Given the description of an element on the screen output the (x, y) to click on. 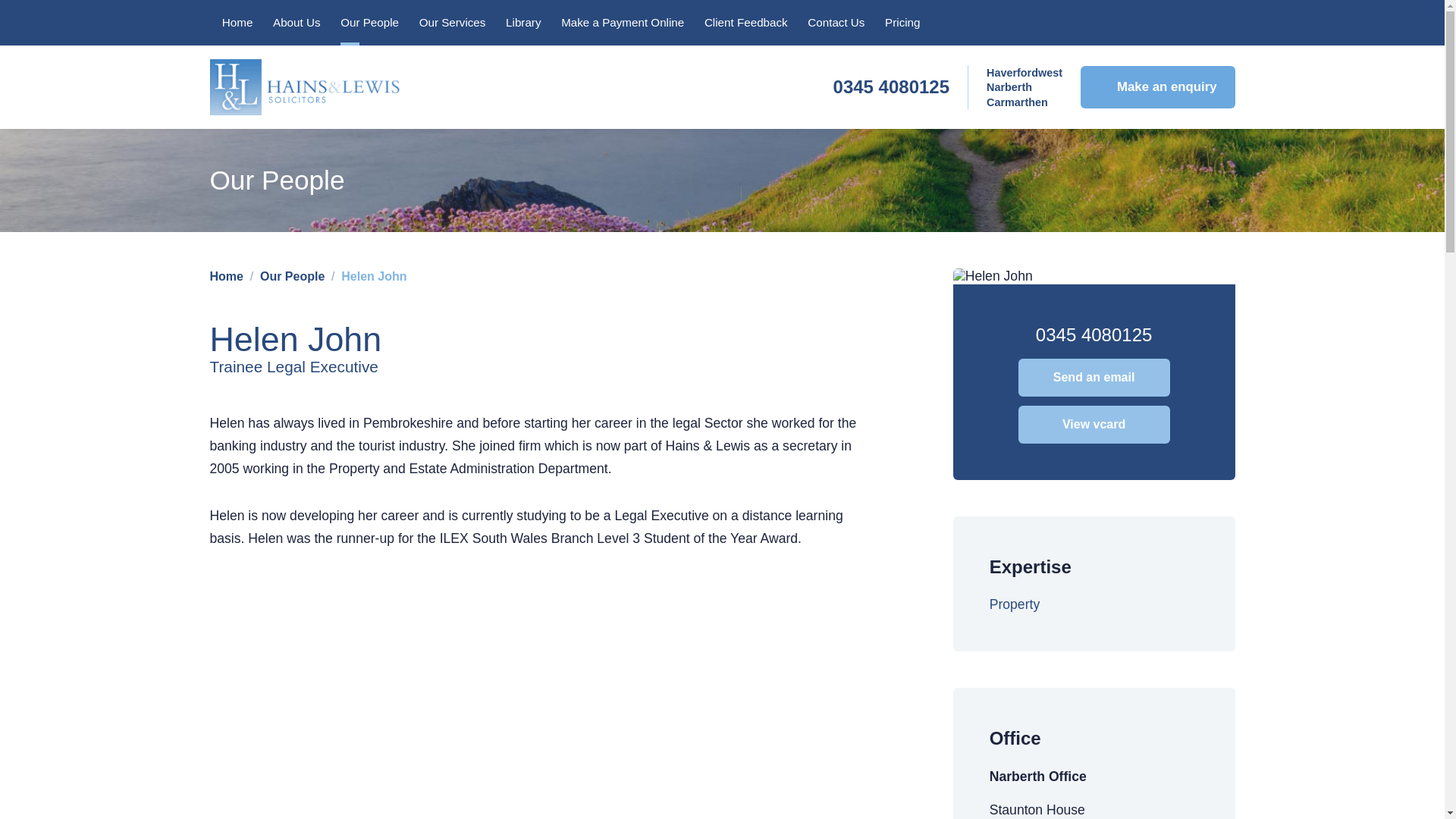
Home (237, 22)
Carmarthen (1017, 102)
Pricing (902, 22)
Library (523, 22)
Make a Payment Online (622, 22)
Our Services (452, 22)
Narberth (1009, 87)
Client Feedback (745, 22)
About Us (296, 22)
Our People (369, 22)
0345 4080125 (891, 86)
Haverfordwest (1024, 72)
Contact Us (836, 22)
